Given the description of an element on the screen output the (x, y) to click on. 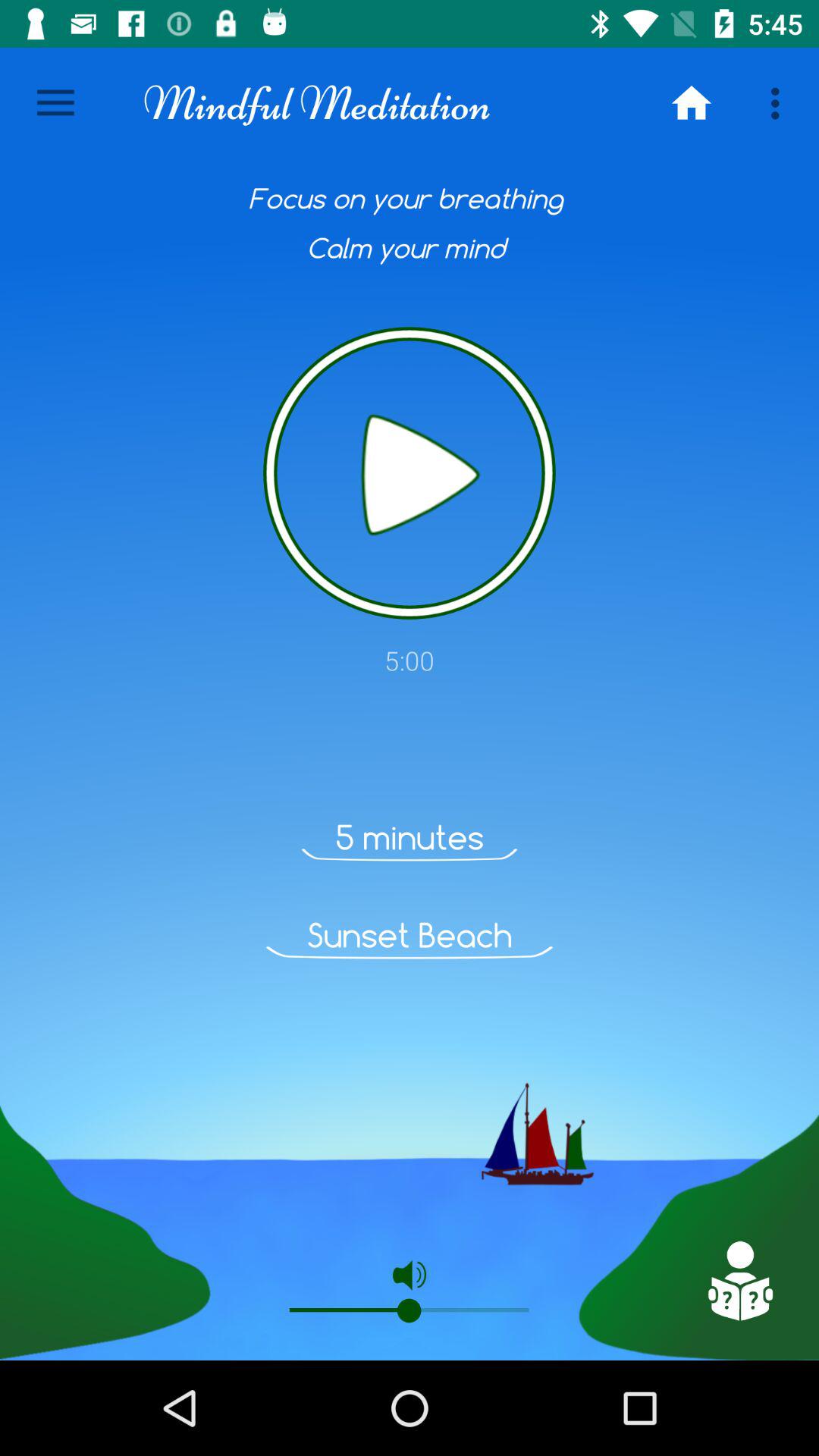
turn off the item next to mindful meditation icon (55, 103)
